Given the description of an element on the screen output the (x, y) to click on. 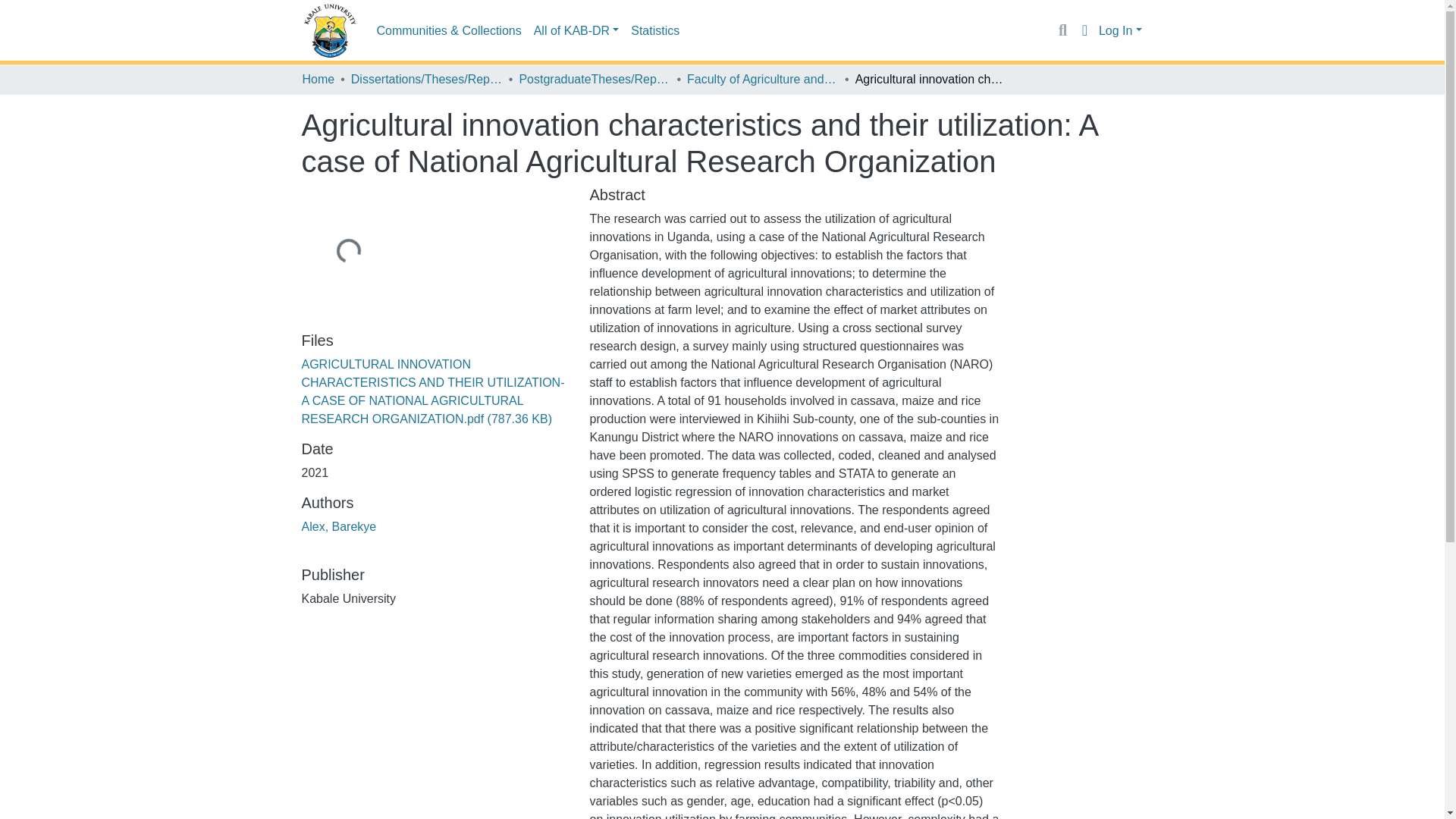
Statistics (654, 30)
Statistics (654, 30)
Log In (1119, 30)
Search (1061, 30)
All of KAB-DR (576, 30)
Home (317, 79)
Language switch (1084, 30)
Alex, Barekye (339, 526)
